Given the description of an element on the screen output the (x, y) to click on. 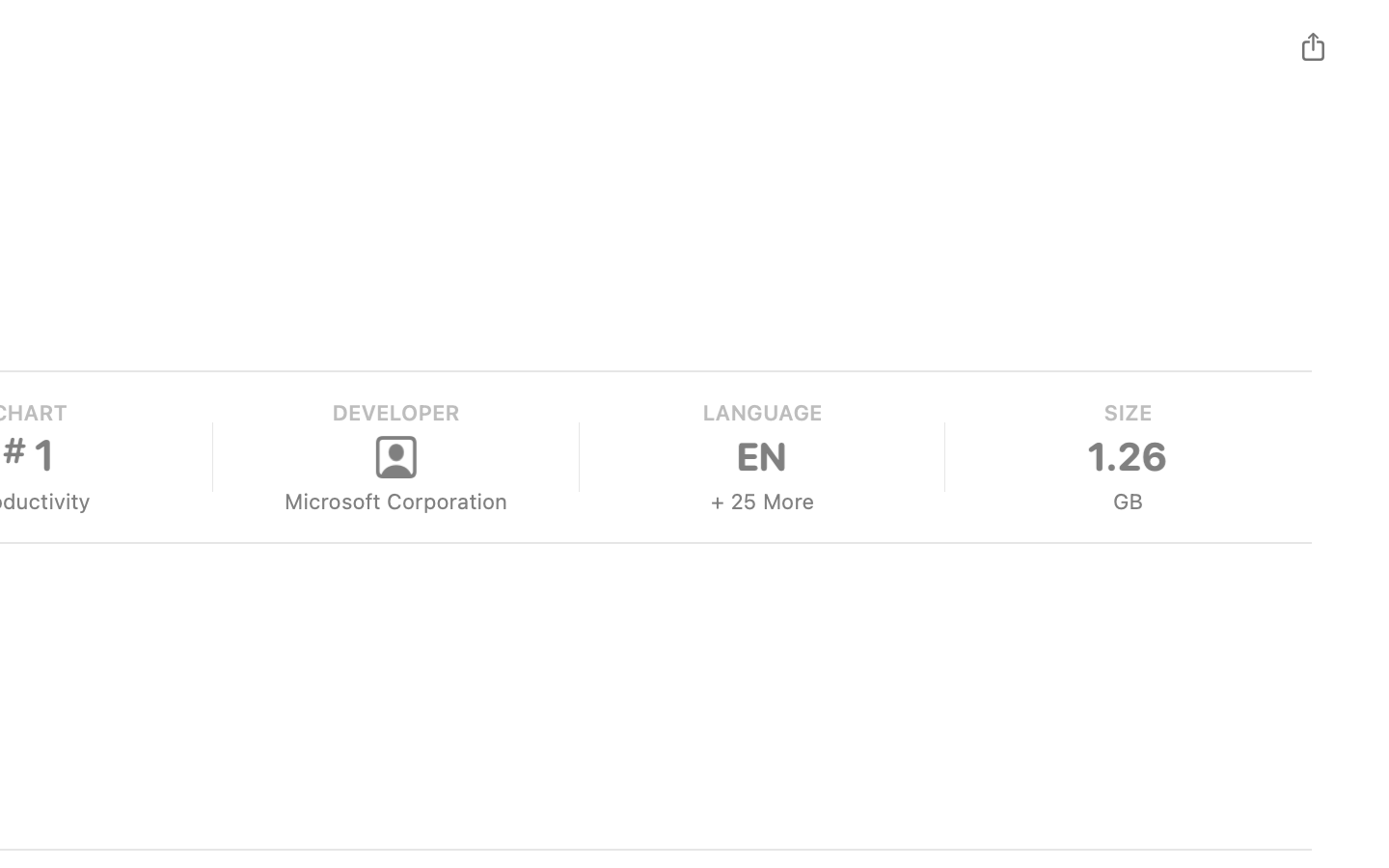
+ 25 More Element type: AXStaticText (760, 501)
GB, SIZE, 1.26 Element type: AXStaticText (1127, 456)
SIZE Element type: AXStaticText (1127, 412)
GB Element type: AXStaticText (1127, 501)
1 Element type: AXStaticText (42, 455)
